Given the description of an element on the screen output the (x, y) to click on. 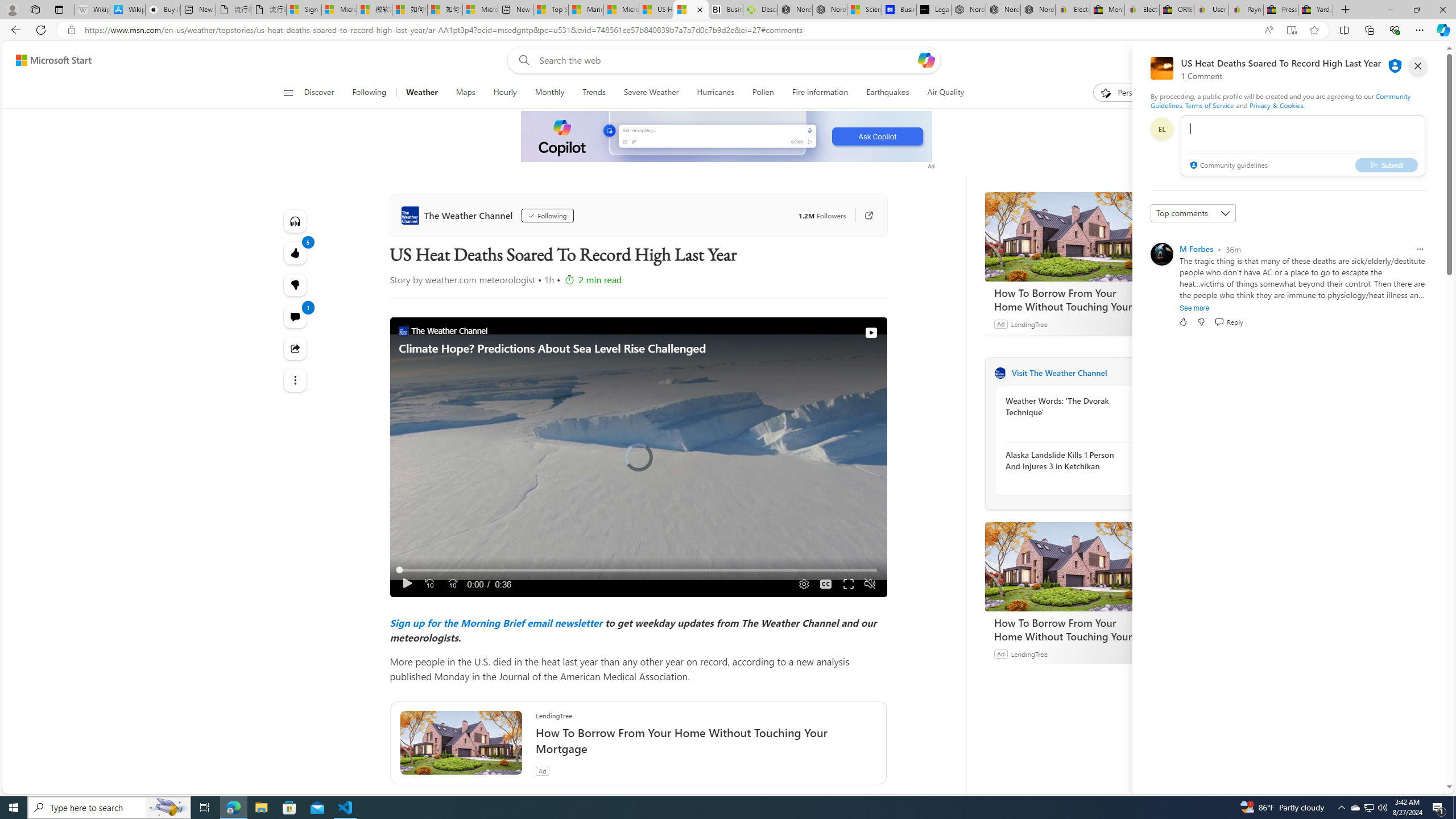
US Heat Deaths Soared To Record High Last Year (690, 9)
Severe Weather (651, 92)
Severe Weather (650, 92)
Weather (421, 92)
Terms of Service (1209, 104)
Skip to content (49, 59)
Sort comments by (1193, 212)
How To Borrow From Your Home Without Touching Your Mortgage (1069, 628)
Web search (520, 60)
Address and search bar (658, 29)
Read aloud this page (Ctrl+Shift+U) (1245, 29)
Enhance video (1268, 29)
Profile Picture (1161, 254)
Captions (825, 583)
